Given the description of an element on the screen output the (x, y) to click on. 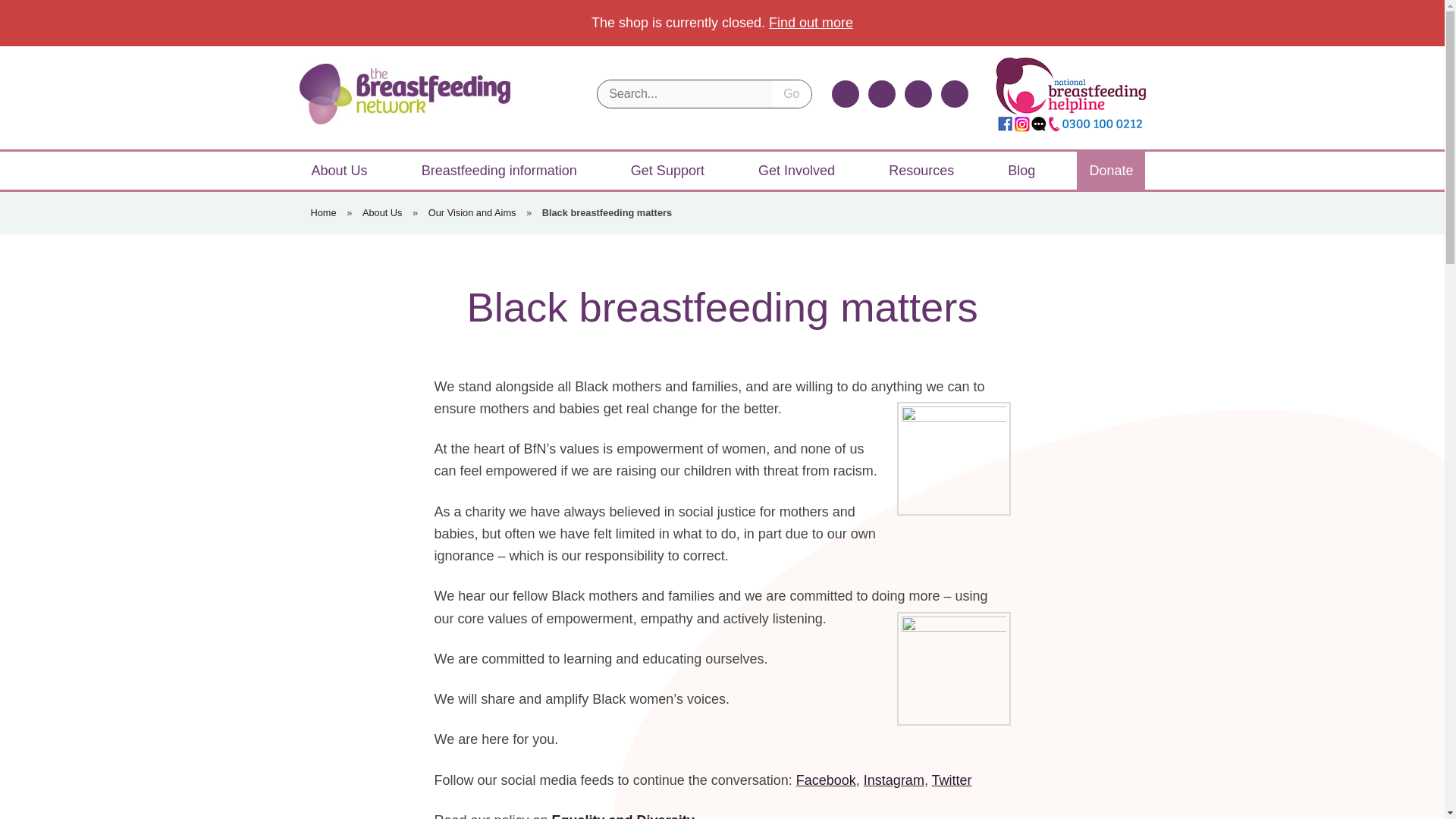
The Breastfeeding Network (403, 93)
Find out more (810, 22)
Breastfeeding information (499, 170)
About Us (338, 170)
Go (790, 93)
Go (790, 93)
Go (790, 93)
